Given the description of an element on the screen output the (x, y) to click on. 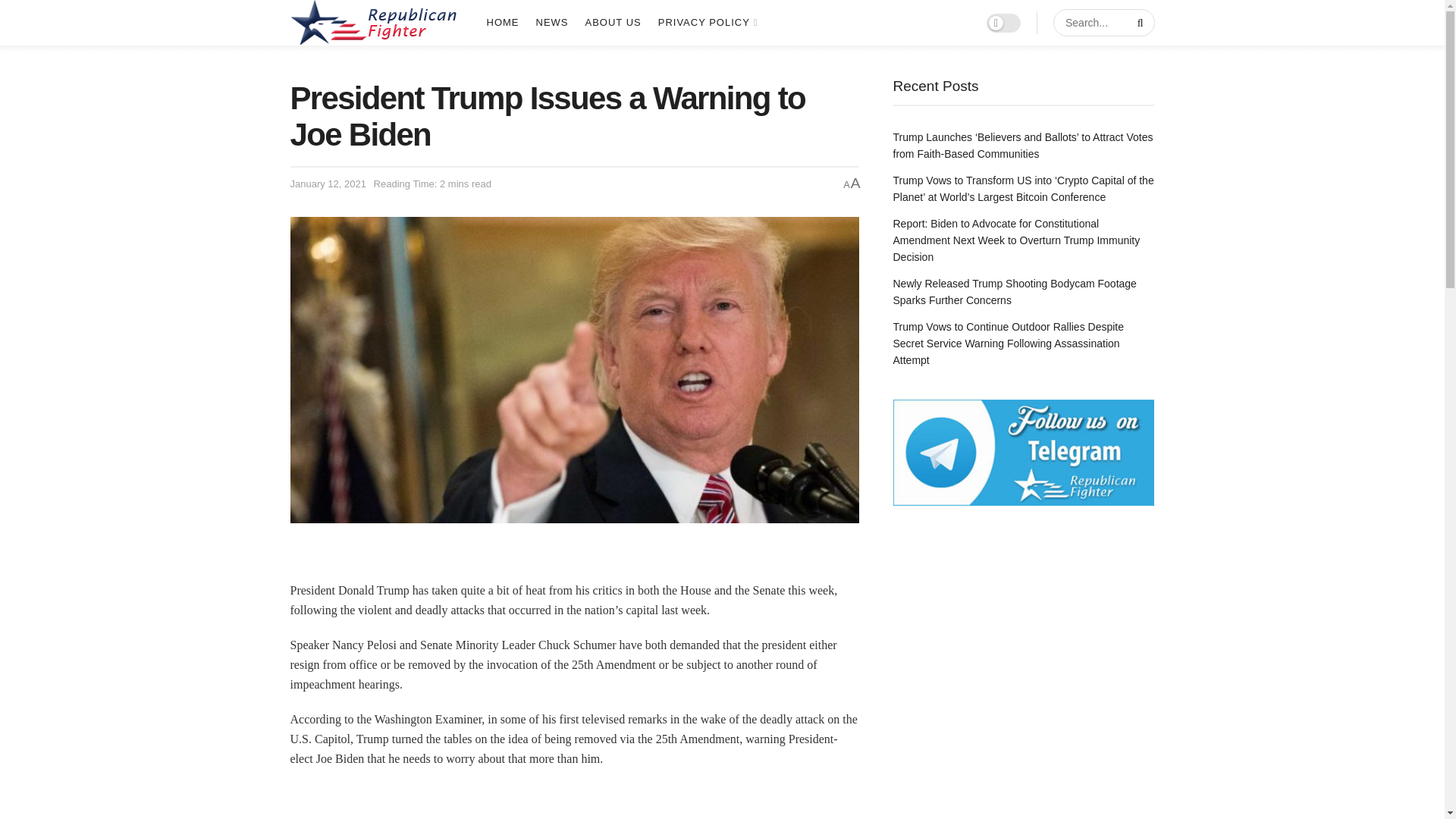
PRIVACY POLICY (706, 22)
January 12, 2021 (327, 183)
ABOUT US (613, 22)
